Given the description of an element on the screen output the (x, y) to click on. 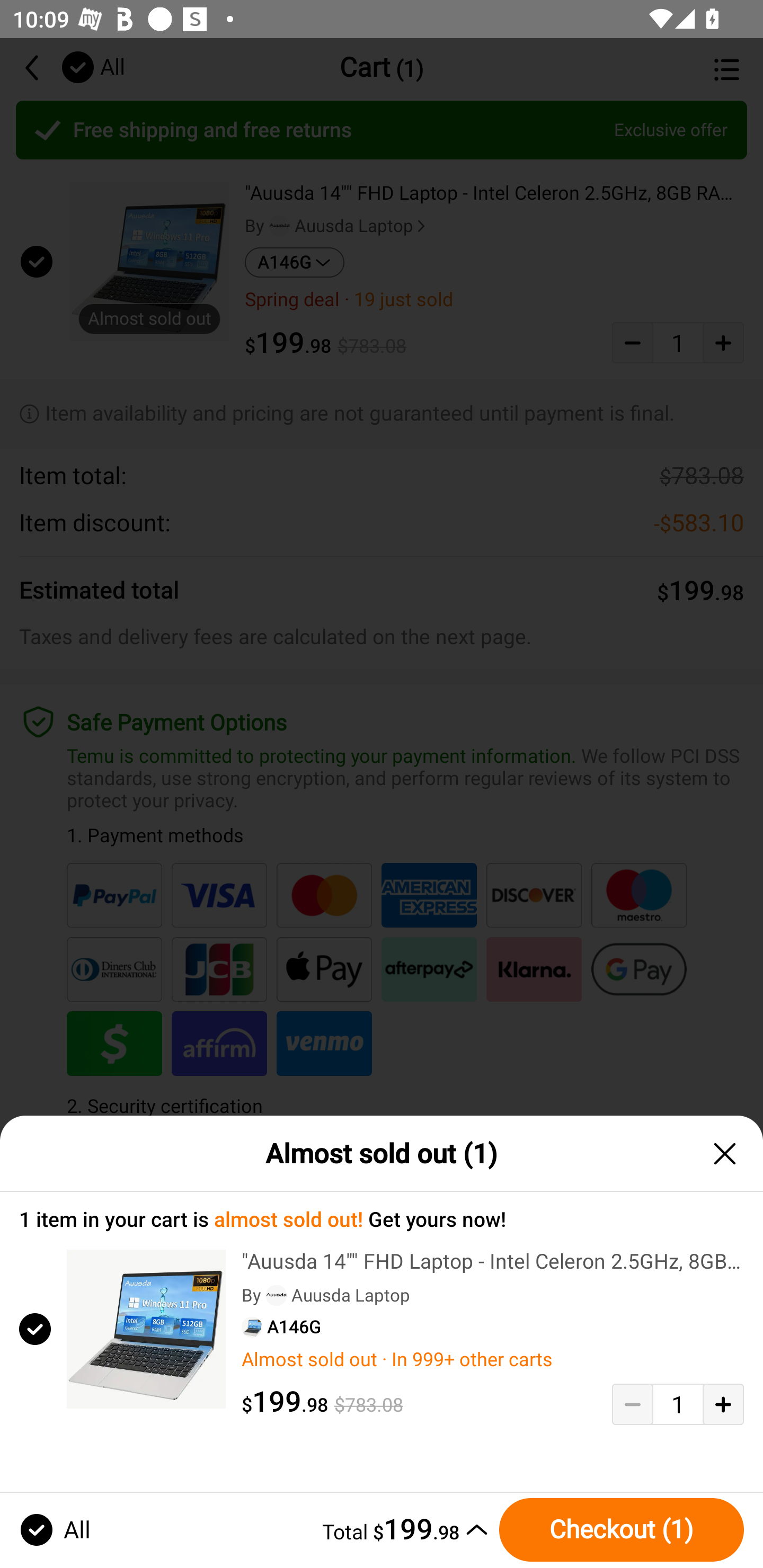
close (724, 1152)
Product checkbox checked (33, 1328)
Decrease quantity button (632, 1403)
1 (677, 1403)
Add quantity button (722, 1403)
Deselect all tick button (31, 1529)
Total $199.98 (296, 1529)
Checkout (1) (621, 1529)
